Given the description of an element on the screen output the (x, y) to click on. 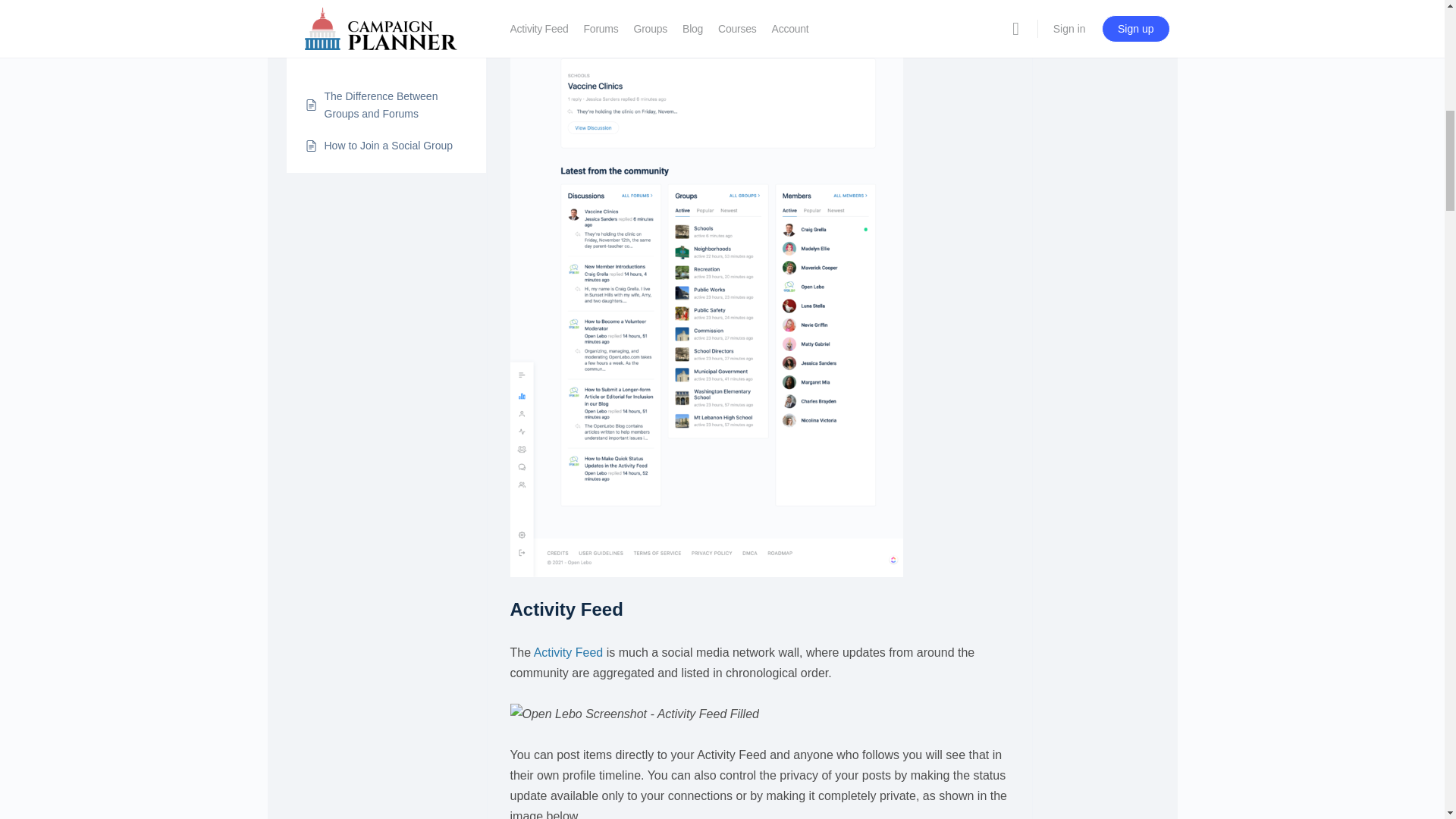
The Structure of OpenLebo.com (395, 6)
How to Join a Social Group (388, 145)
The Difference Between Groups and Forums (395, 104)
